Given the description of an element on the screen output the (x, y) to click on. 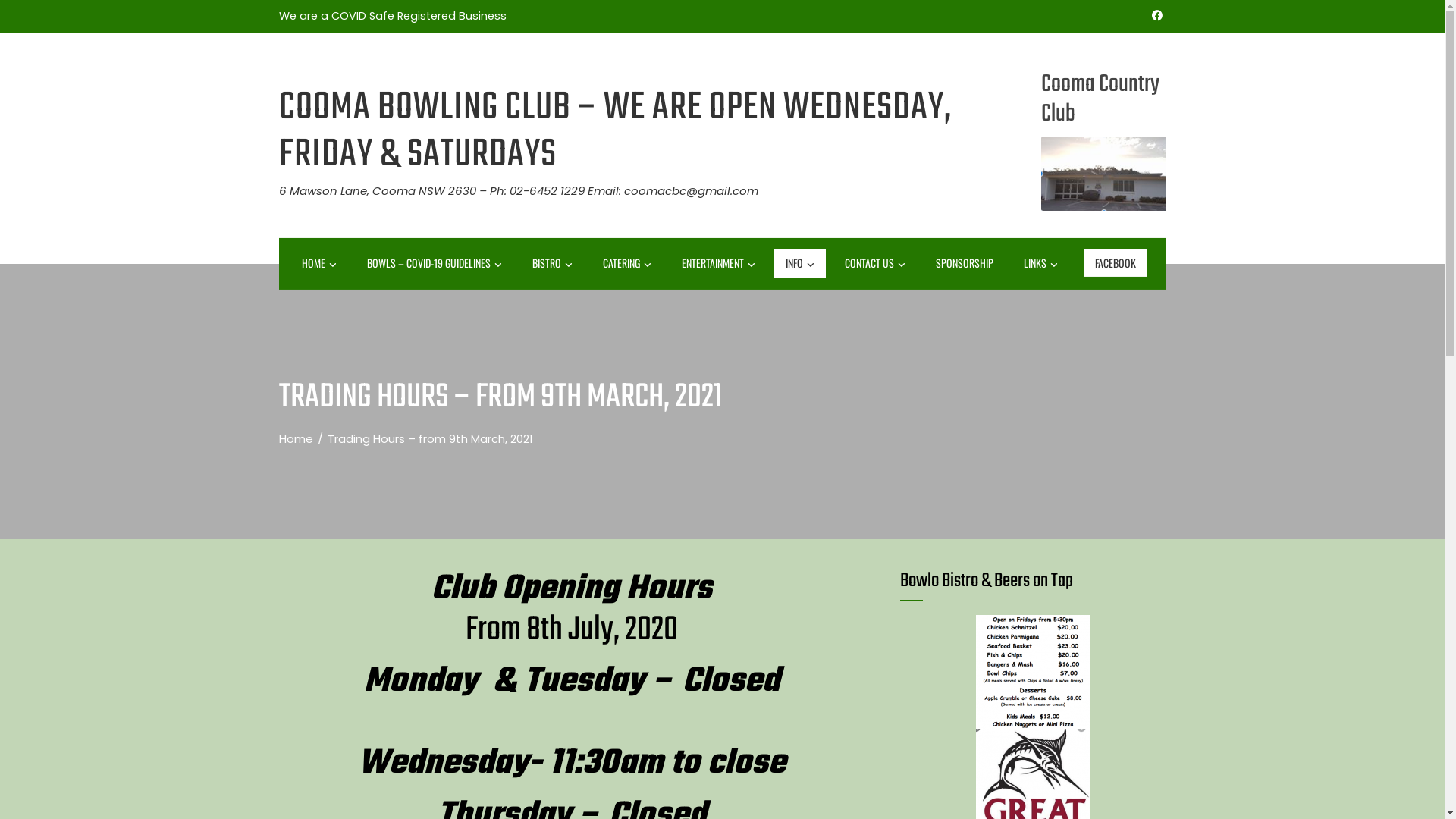
BISTRO Element type: text (551, 263)
FACEBOOK Element type: text (1114, 262)
CATERING Element type: text (626, 263)
LINKS Element type: text (1039, 263)
SPONSORSHIP Element type: text (963, 262)
HOME Element type: text (318, 263)
CONTACT US Element type: text (874, 263)
ENTERTAINMENT Element type: text (718, 263)
Home Element type: text (296, 438)
INFO Element type: text (799, 263)
